Given the description of an element on the screen output the (x, y) to click on. 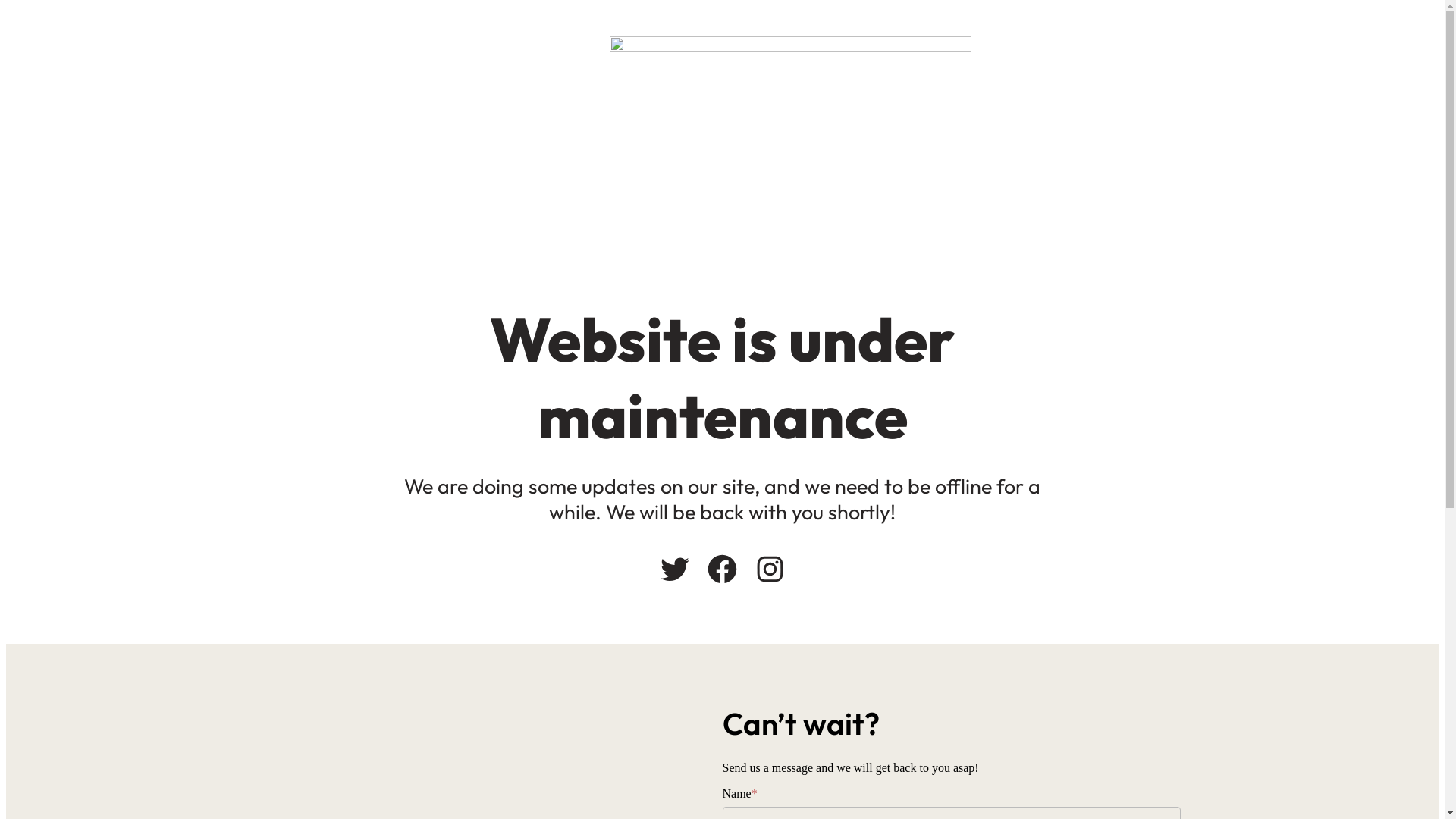
Facebook Element type: text (722, 569)
Instagram Element type: text (770, 569)
Twitter Element type: text (674, 569)
